Given the description of an element on the screen output the (x, y) to click on. 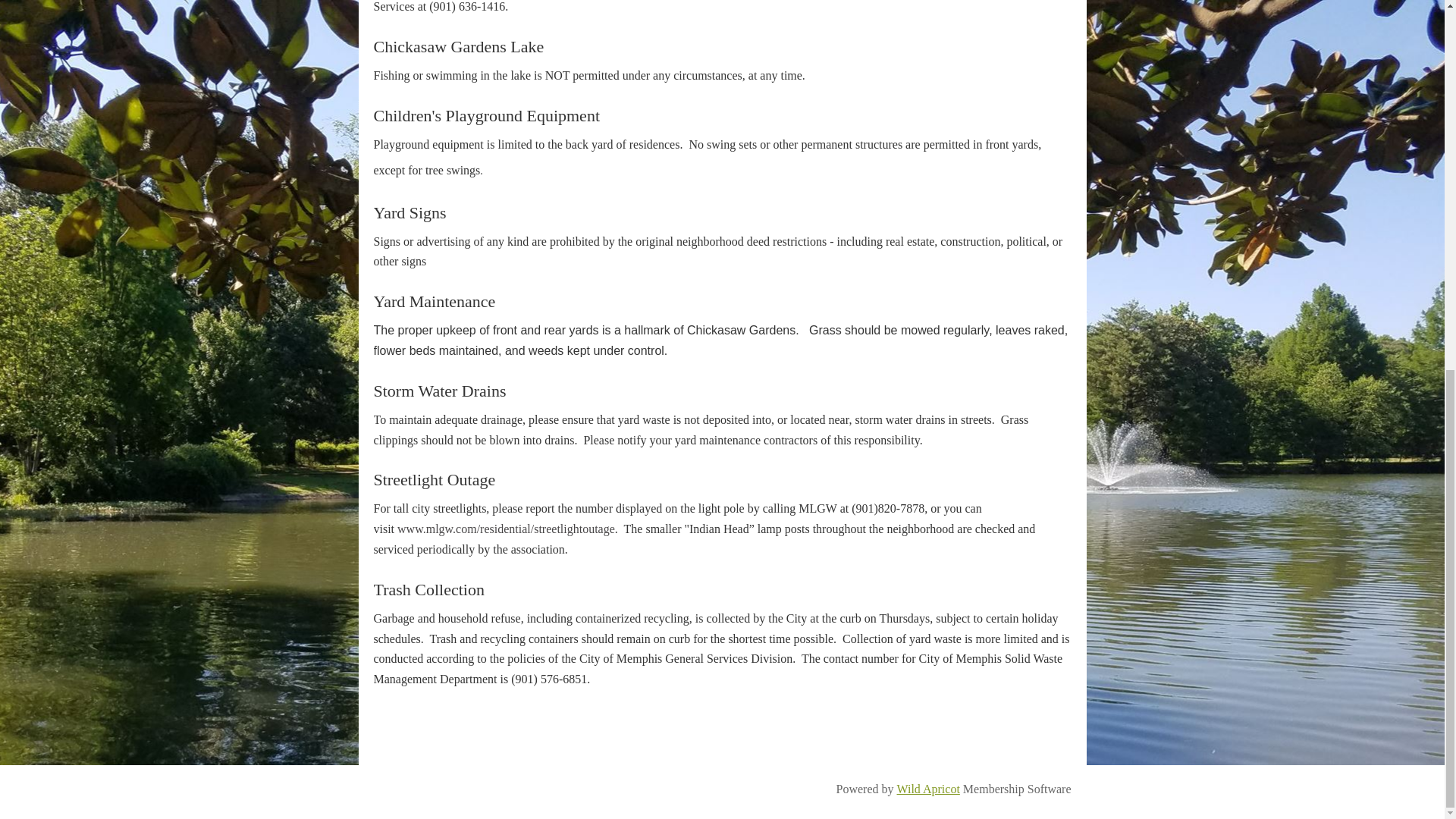
Wild Apricot (927, 788)
